Given the description of an element on the screen output the (x, y) to click on. 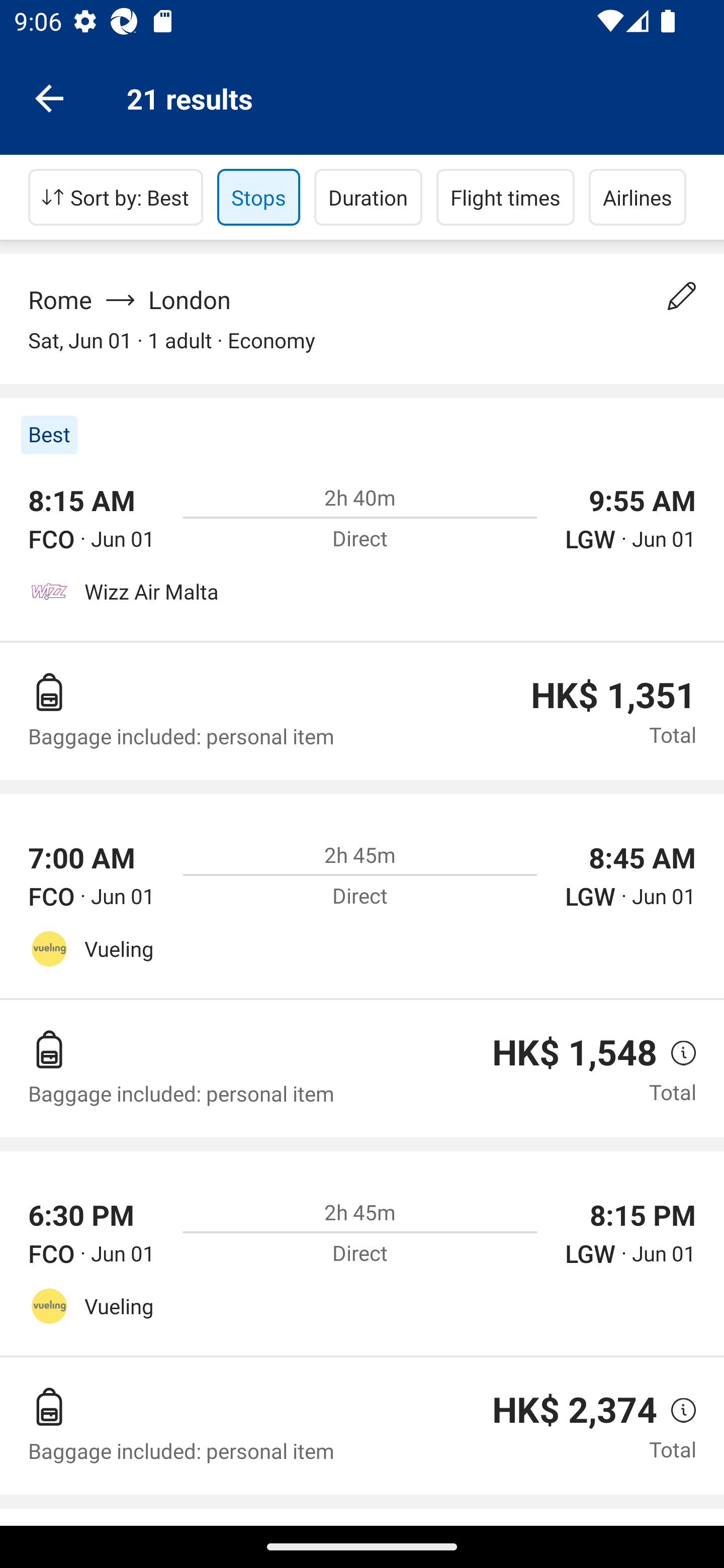
Navigate up (49, 97)
Sort by: Best (115, 197)
Stops (258, 197)
Duration (368, 197)
Flight times (505, 197)
Airlines (637, 197)
Change your search details (681, 296)
HK$ 1,351 (612, 695)
HK$ 1,548 (574, 1052)
view price details, opens a pop-up (676, 1052)
HK$ 2,374 (574, 1410)
view price details, opens a pop-up (676, 1410)
